Given the description of an element on the screen output the (x, y) to click on. 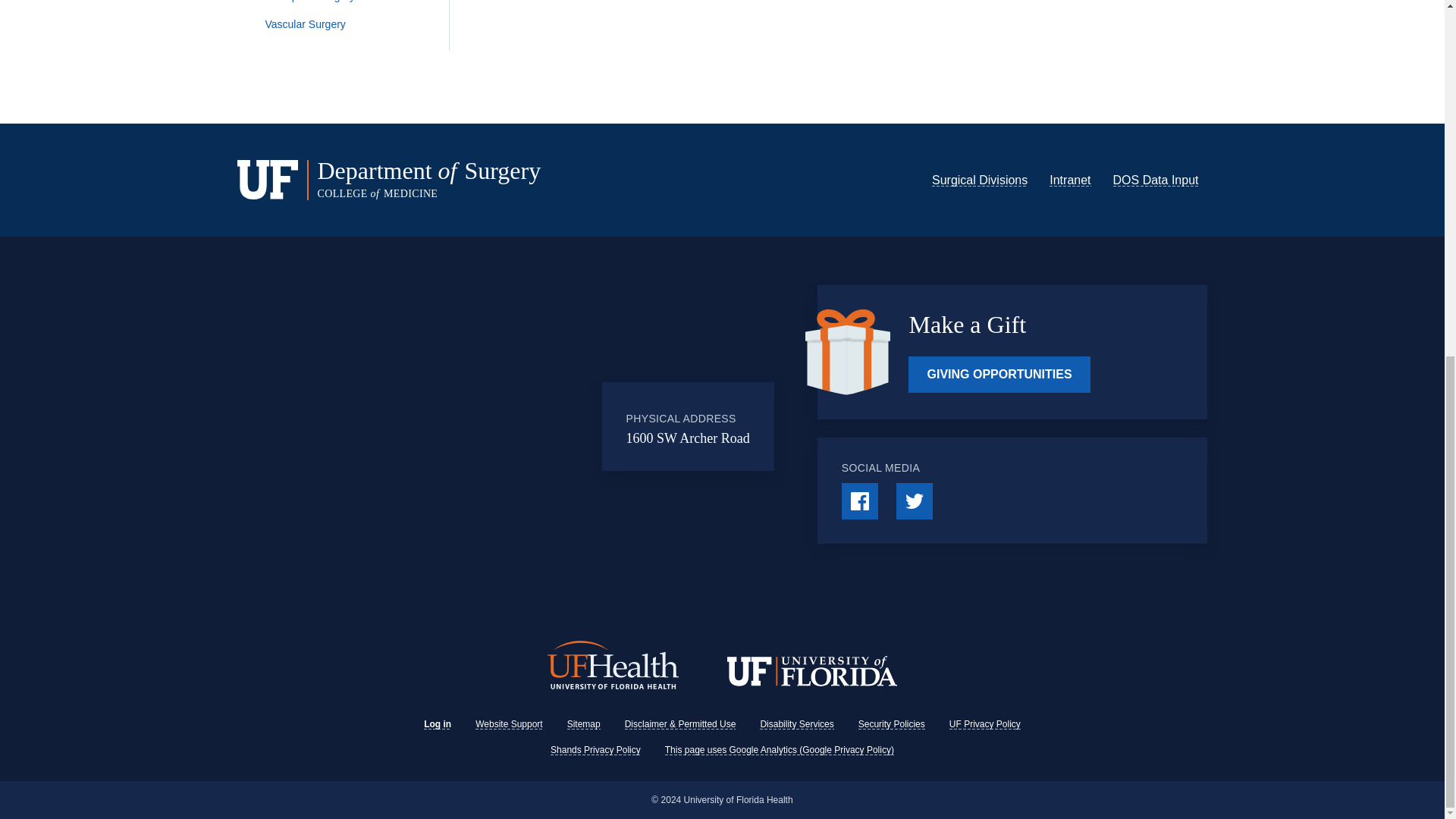
Google Maps Embed (477, 426)
Disability Services (796, 724)
UF Privacy Policy (984, 724)
Security Policies (891, 724)
Shands Privacy Policy (595, 749)
Log in (437, 724)
Sitemap (583, 724)
Surgical Divisions (979, 179)
DOS Data Input (1155, 179)
Website Support (509, 724)
